Given the description of an element on the screen output the (x, y) to click on. 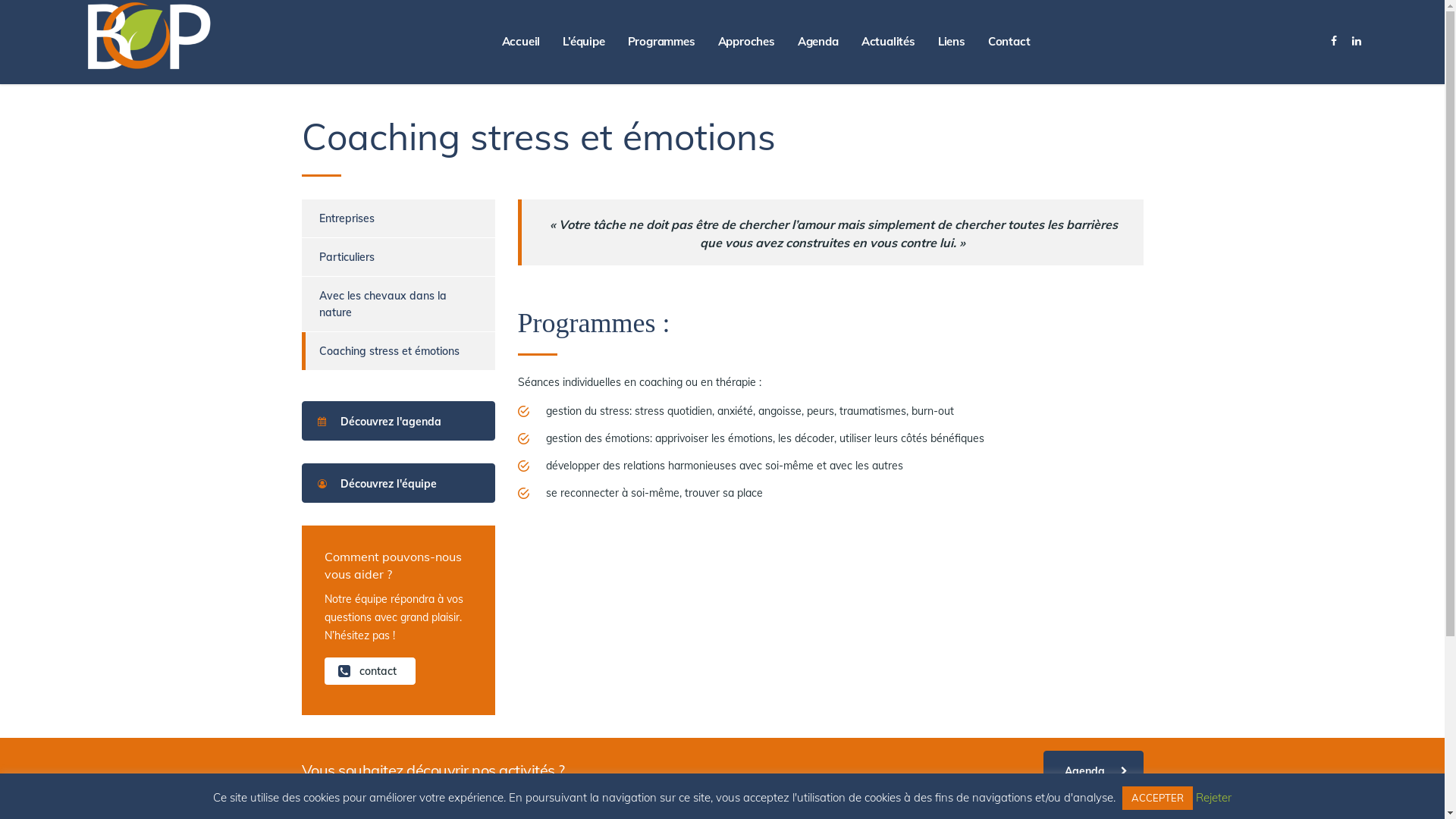
ACCEPTER Element type: text (1157, 797)
Rejeter Element type: text (1213, 797)
Particuliers Element type: text (337, 257)
Avec les chevaux dans la nature Element type: text (389, 303)
Liens Element type: text (951, 41)
Accueil Element type: text (521, 41)
Contact Element type: text (1008, 41)
Social item Element type: hover (1356, 41)
Programmes Element type: text (661, 41)
Entreprises Element type: text (337, 218)
contact Element type: text (369, 670)
Agenda Element type: text (1093, 770)
Social item Element type: hover (1333, 41)
Agenda Element type: text (818, 41)
Approches Element type: text (746, 41)
